Given the description of an element on the screen output the (x, y) to click on. 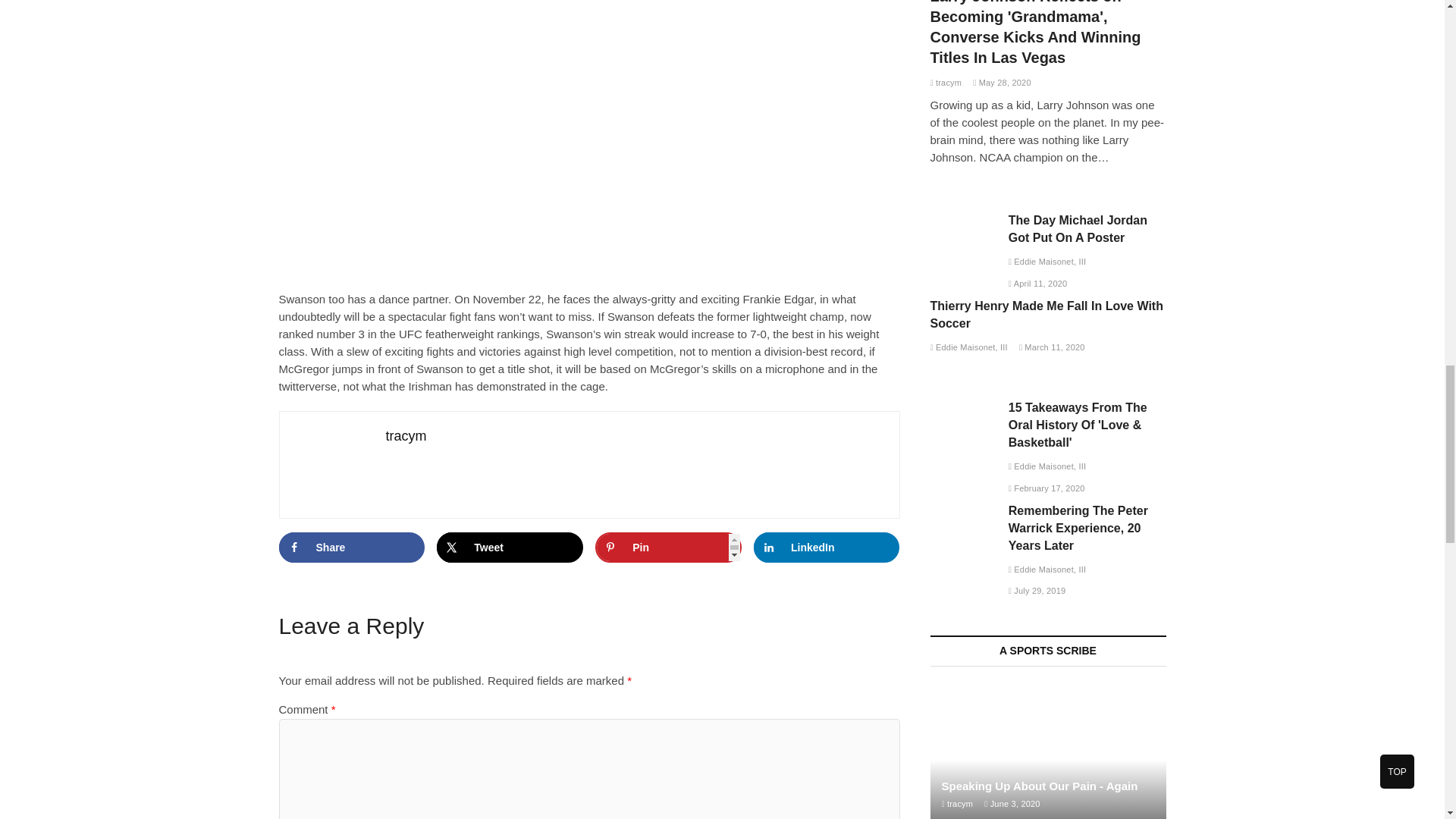
Share on LinkedIn (826, 547)
Share on Facebook (352, 547)
Share on X (509, 547)
Save to Pinterest (668, 547)
